Given the description of an element on the screen output the (x, y) to click on. 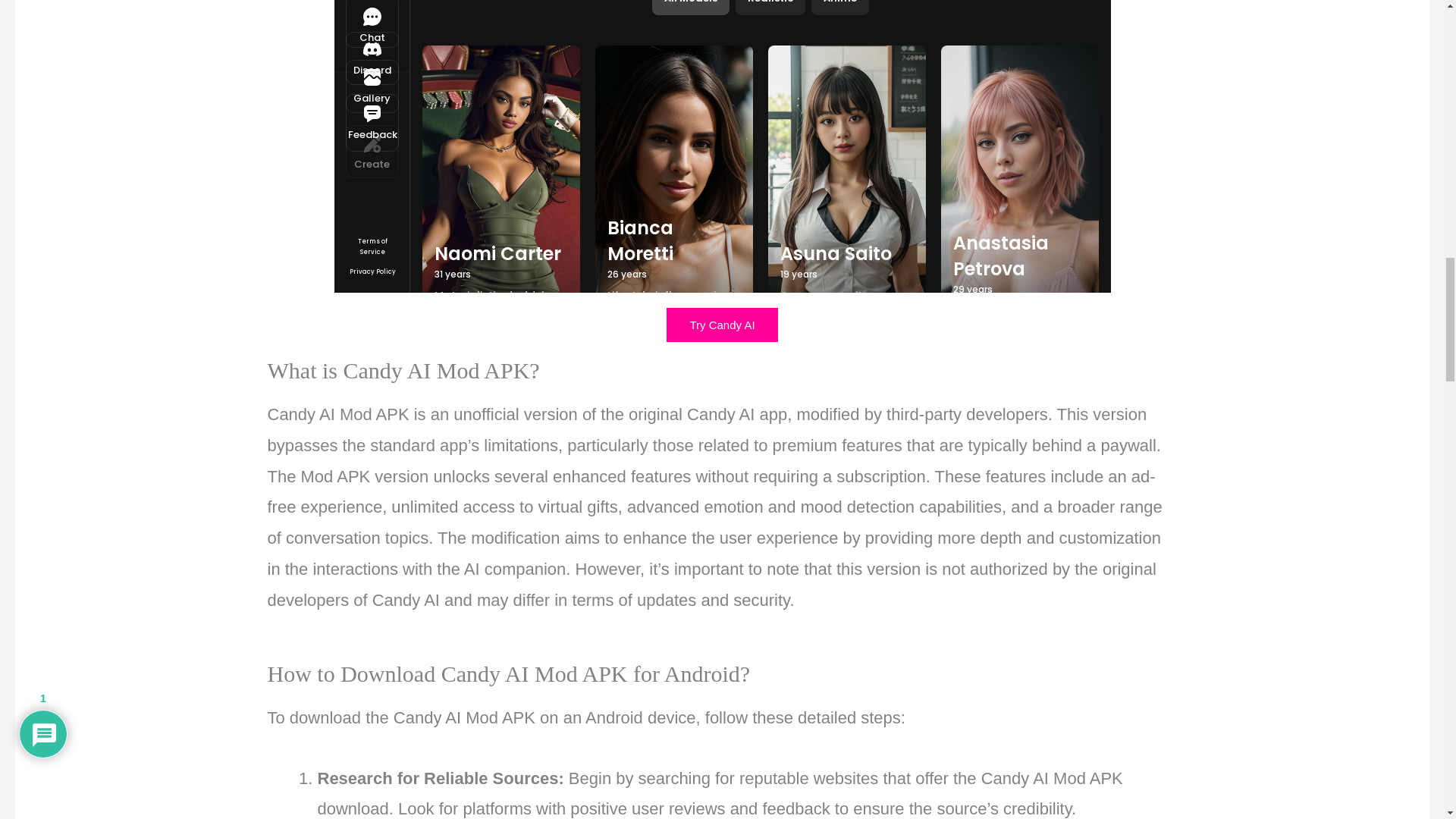
Try Candy AI (721, 324)
